Given the description of an element on the screen output the (x, y) to click on. 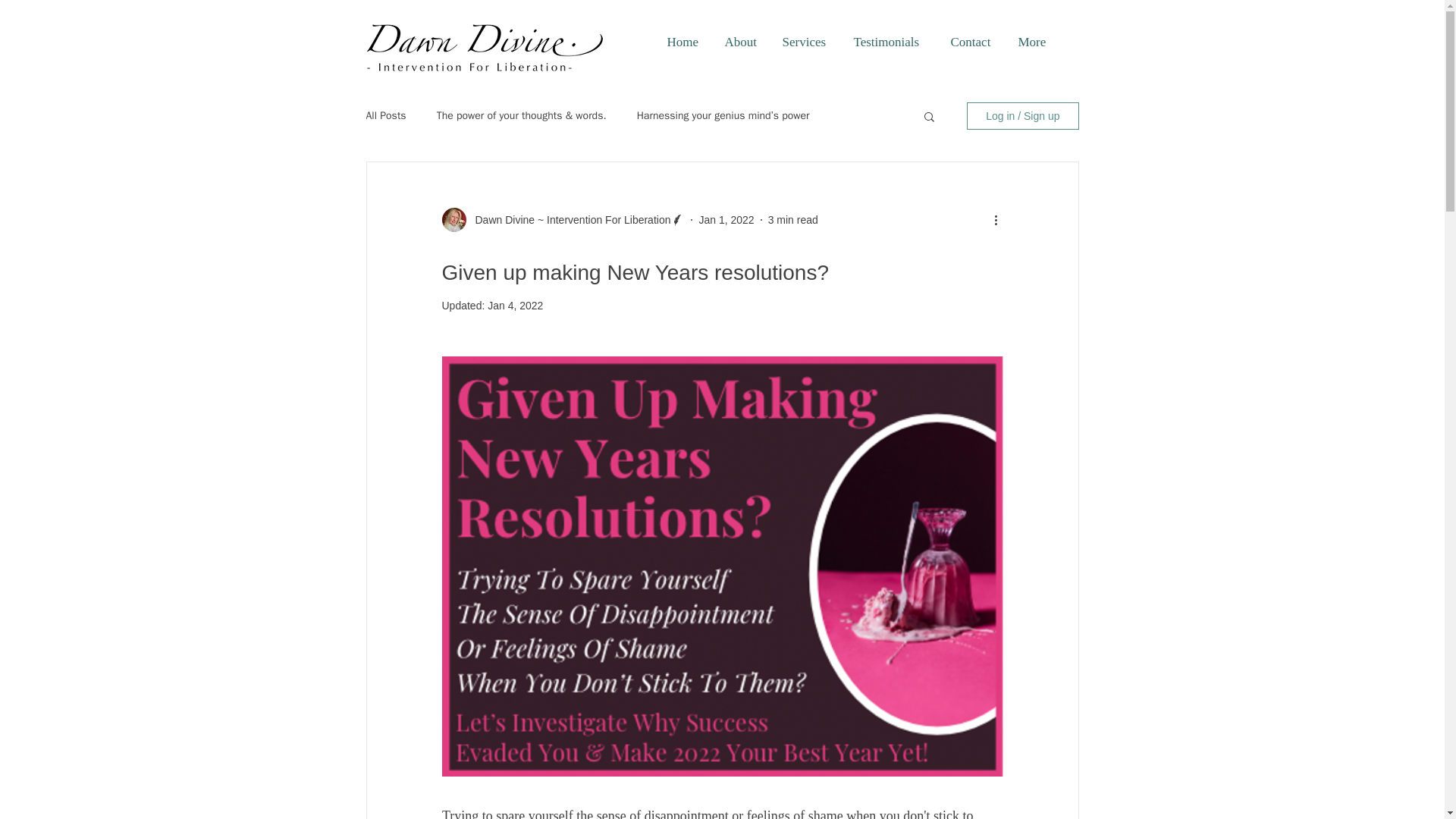
All Posts (385, 115)
Services (805, 42)
3 min read (793, 219)
Home (684, 42)
Jan 4, 2022 (515, 305)
About (741, 42)
Contact (972, 42)
Jan 1, 2022 (726, 219)
Testimonials (890, 42)
